Given the description of an element on the screen output the (x, y) to click on. 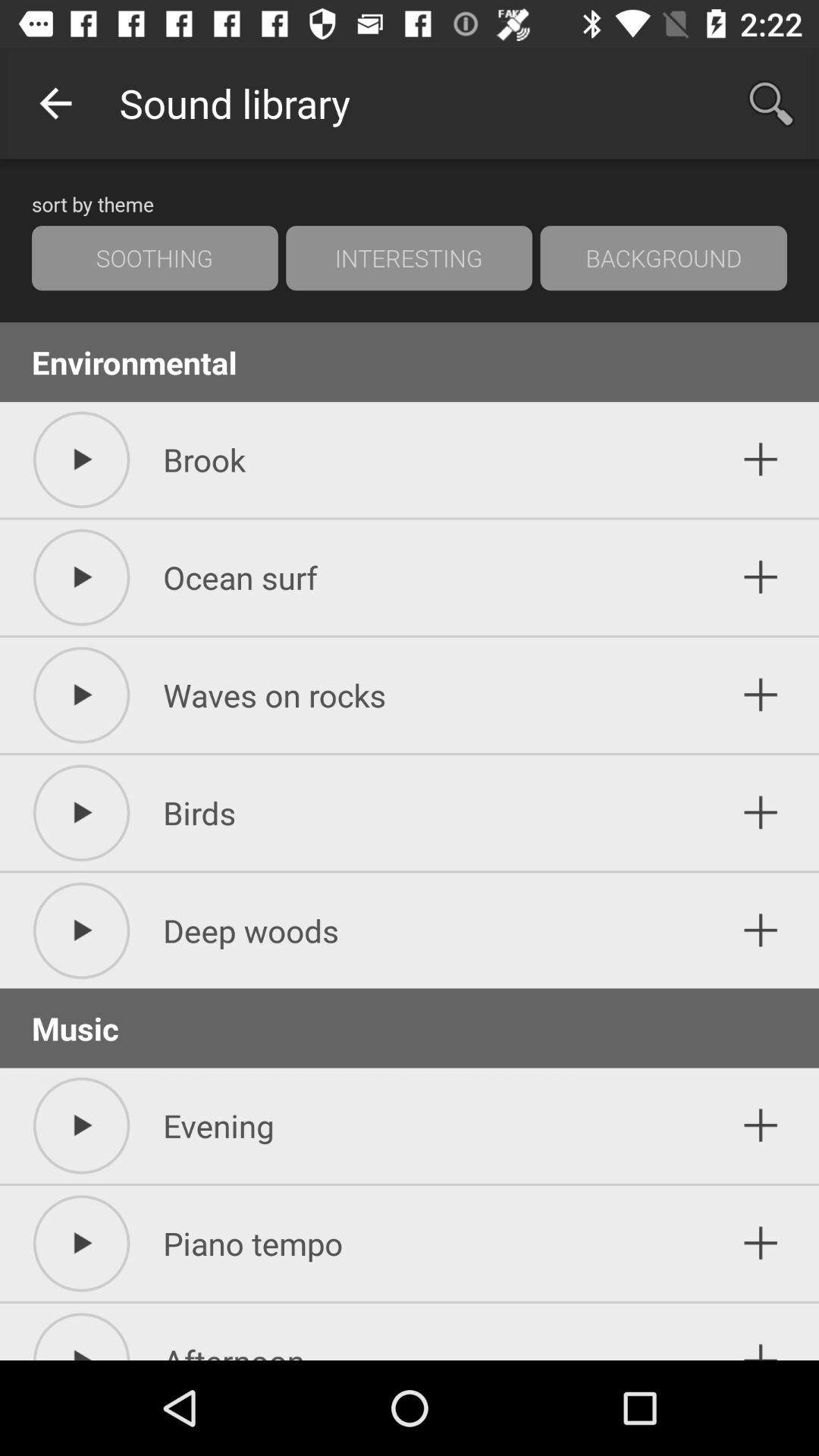
select the item below sort by theme (409, 257)
